Given the description of an element on the screen output the (x, y) to click on. 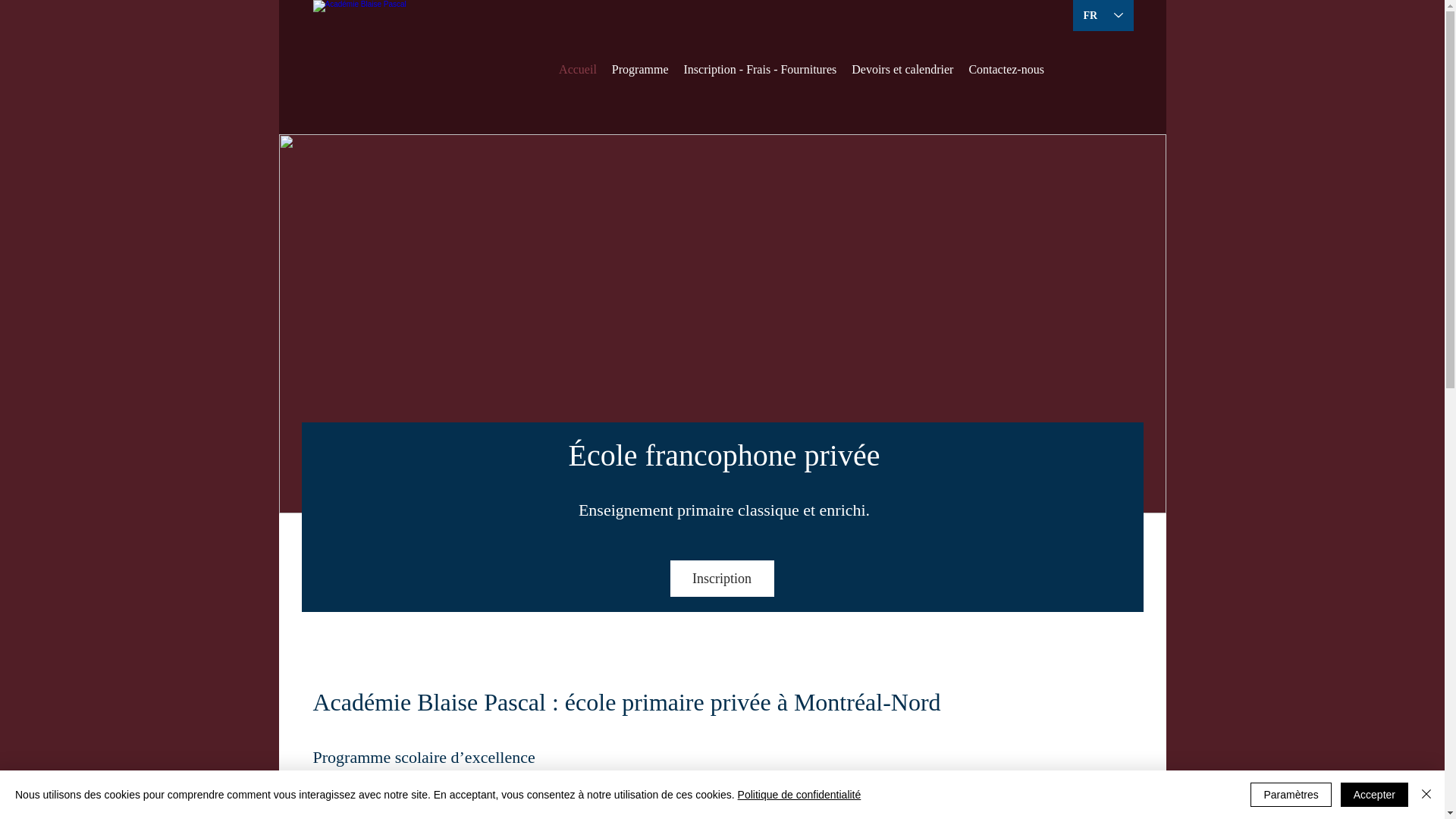
Accepter Element type: text (1374, 794)
Inscription Element type: text (722, 578)
Inscription - Frais - Fournitures Element type: text (759, 68)
Accueil Element type: text (577, 68)
Contactez-nous Element type: text (1005, 68)
Programme Element type: text (640, 68)
Devoirs et calendrier Element type: text (902, 68)
